Given the description of an element on the screen output the (x, y) to click on. 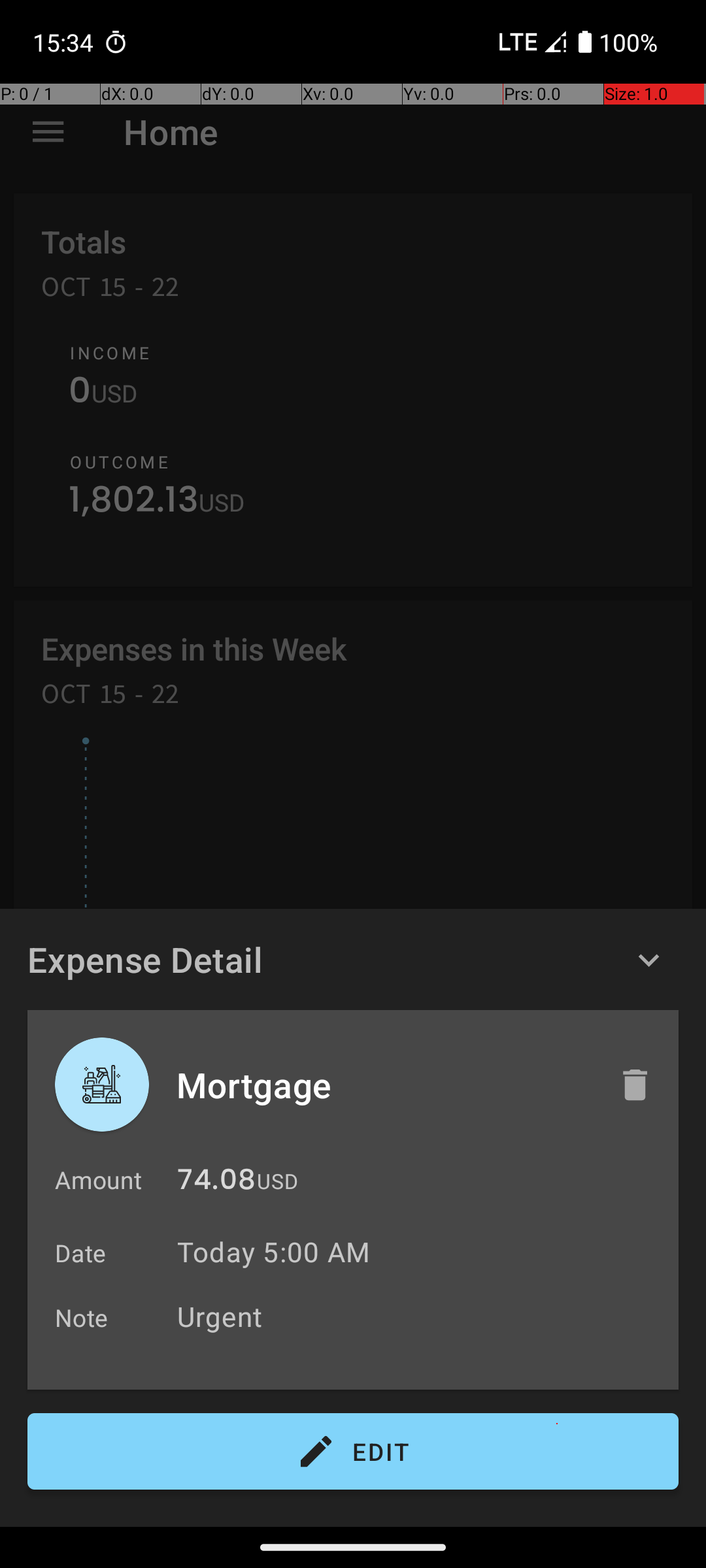
74.08 Element type: android.widget.TextView (216, 1182)
Today 5:00 AM Element type: android.widget.TextView (273, 1251)
